Given the description of an element on the screen output the (x, y) to click on. 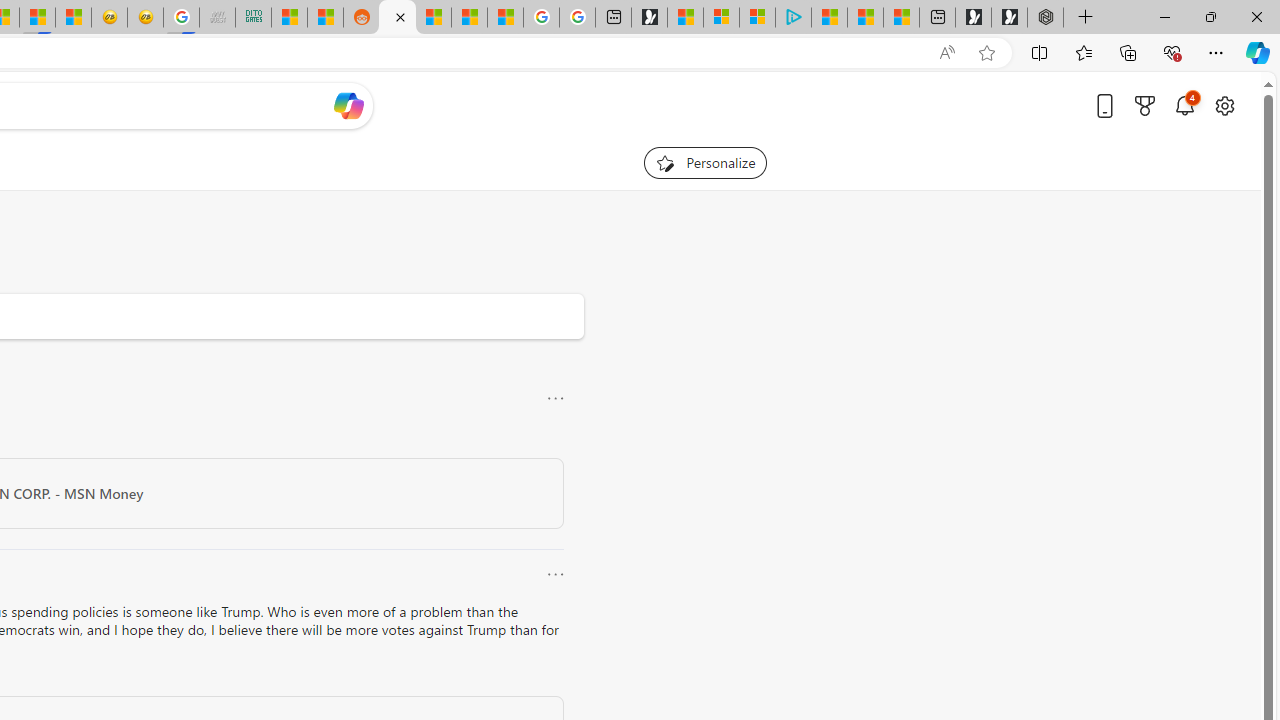
Personalize your feed" (704, 162)
